Given the description of an element on the screen output the (x, y) to click on. 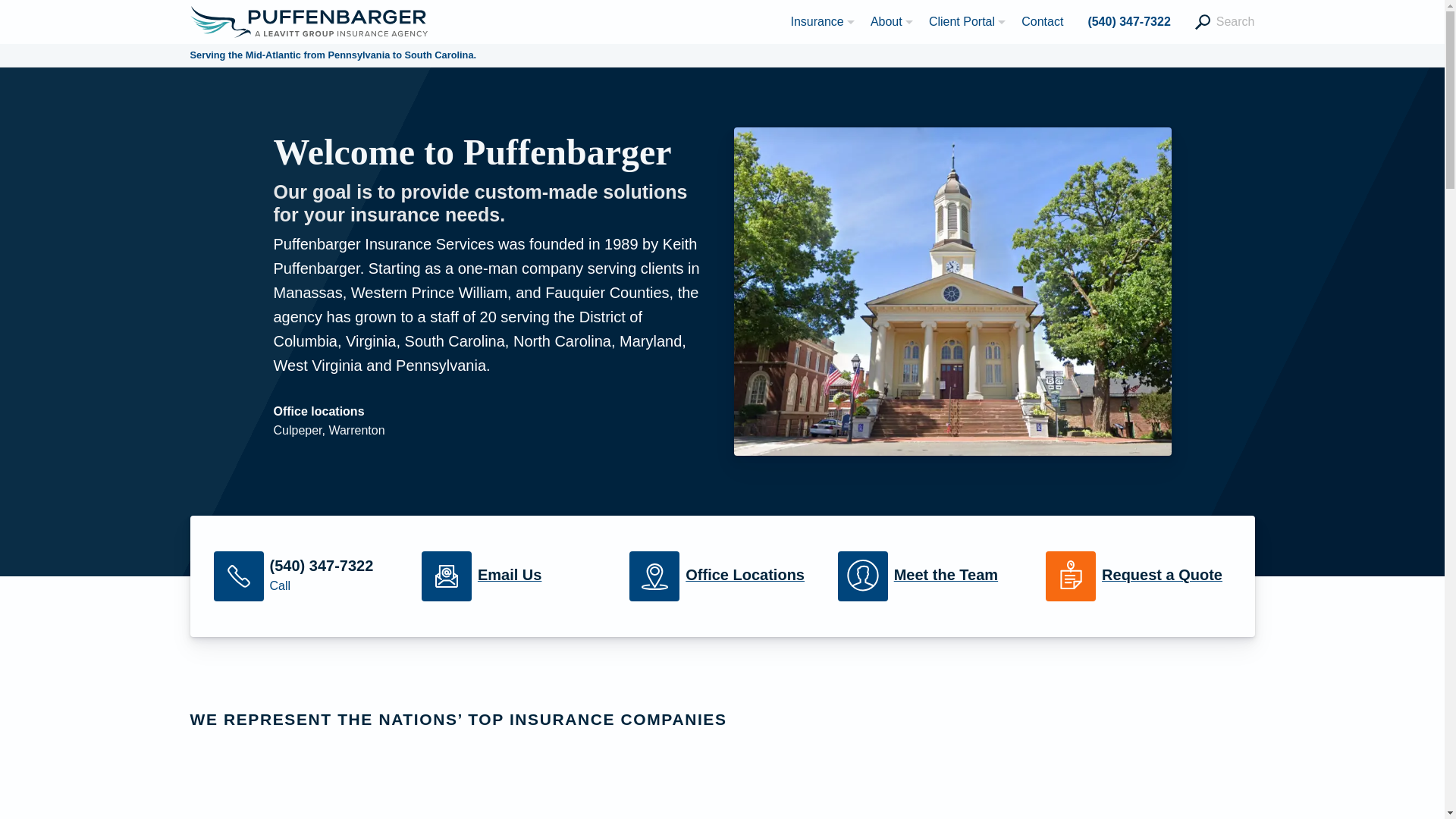
About (888, 21)
Call Us (306, 576)
Home (308, 20)
Office Locations (720, 576)
Request a Quote (1137, 576)
Meet our Team (930, 576)
Client Portal (963, 21)
Email Us (514, 576)
Insurance (817, 21)
